Given the description of an element on the screen output the (x, y) to click on. 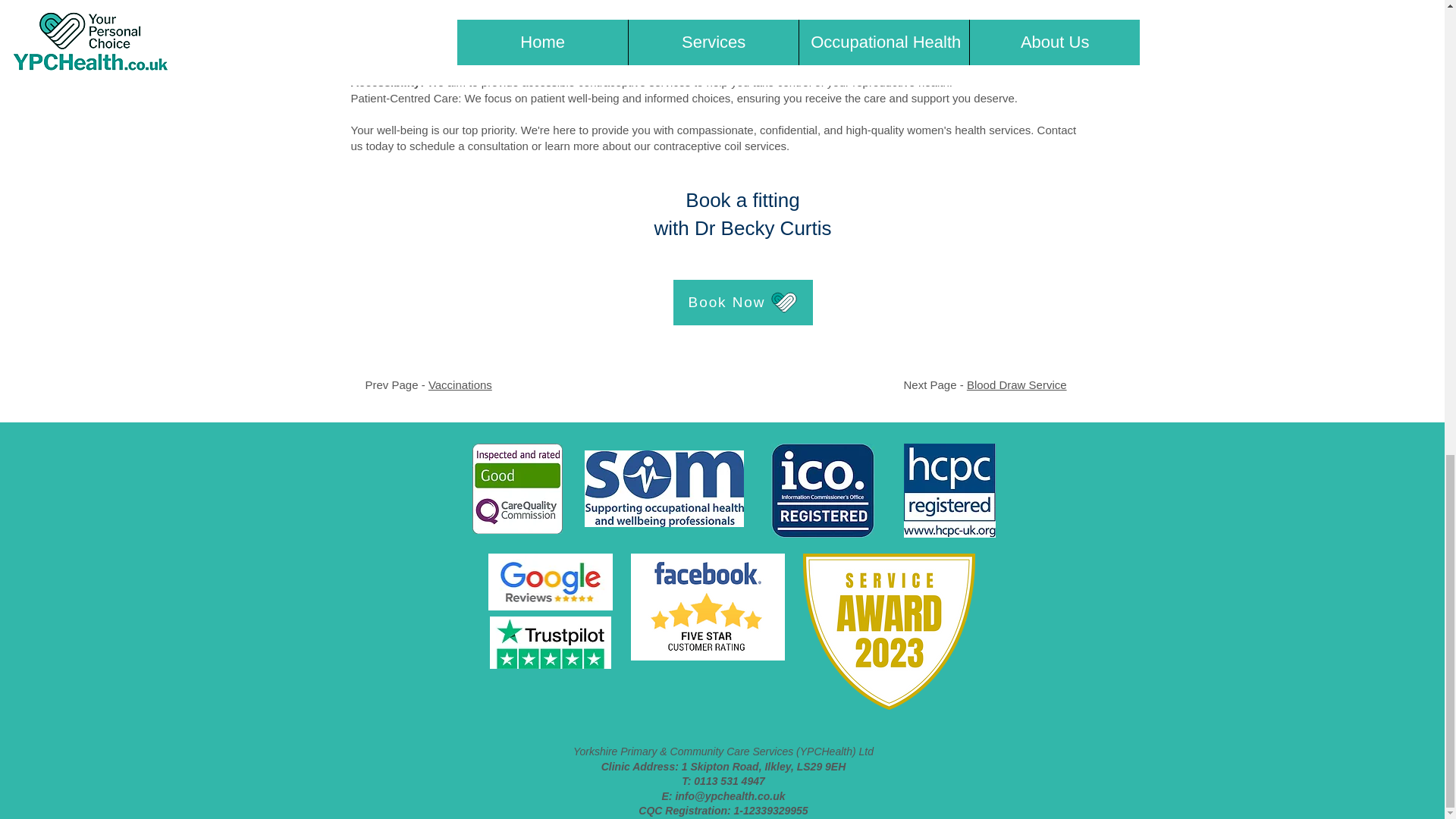
What Clinic Award 2023 (888, 631)
CQC Inspected and rated Good (516, 488)
Supporting Occupational Health and Wellbeing Professionals (662, 488)
Vaccinations (460, 384)
Blood Draw Service (1016, 384)
ICO Registered (821, 490)
Book Now (742, 302)
HCPC Regisered (949, 490)
